Given the description of an element on the screen output the (x, y) to click on. 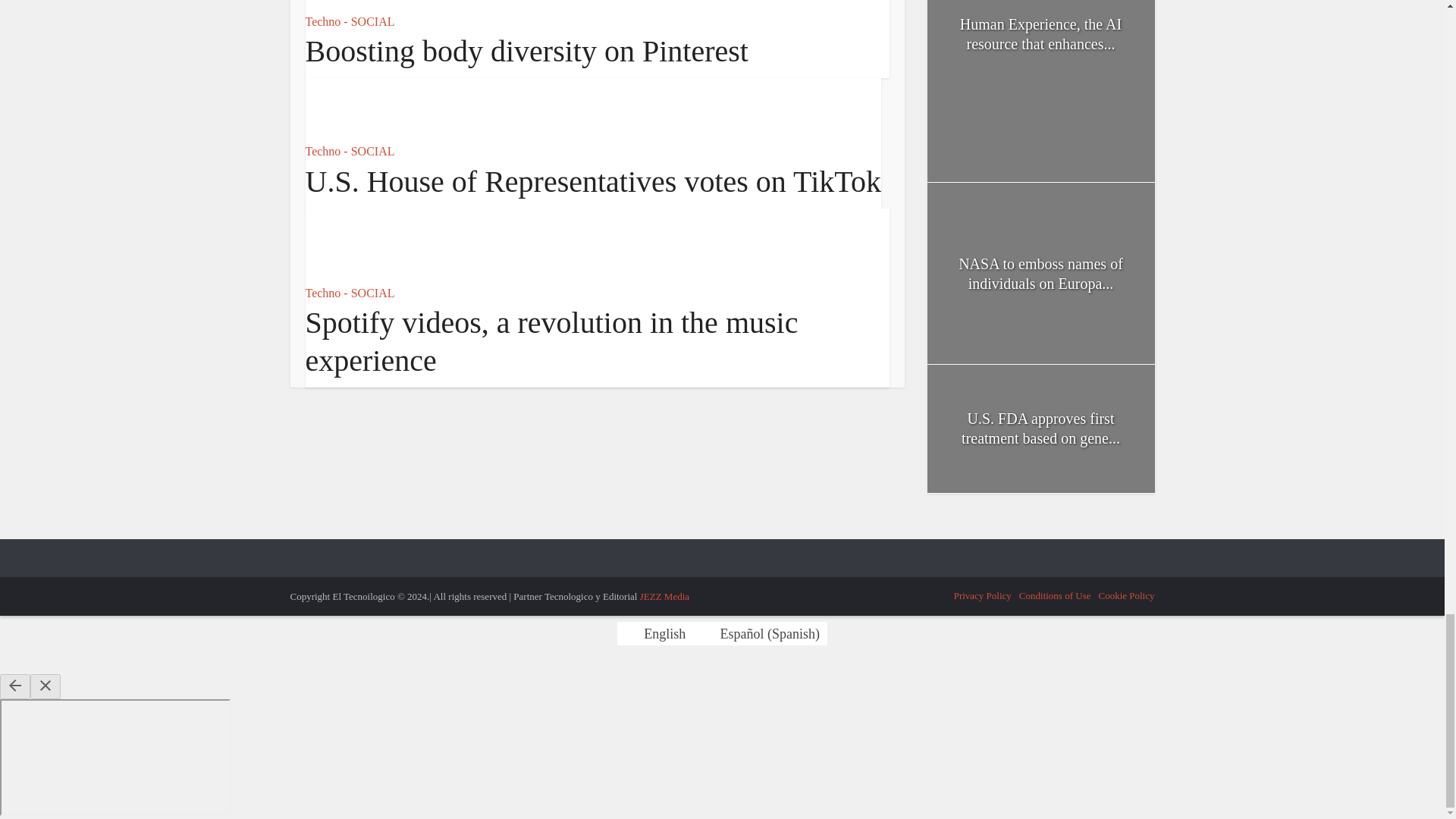
Techno - SOCIAL (349, 21)
U.S. House of Representatives votes on TikTok (359, 107)
Spotify videos, a revolution in the music experience (359, 242)
U.S. House of Representatives votes on TikTok (592, 181)
Spotify videos, a revolution in the music experience (550, 341)
U.S. House of Representatives votes on TikTok (592, 181)
Boosting body diversity on Pinterest (526, 50)
Boosting body diversity on Pinterest (526, 50)
Techno - SOCIAL (349, 151)
